Given the description of an element on the screen output the (x, y) to click on. 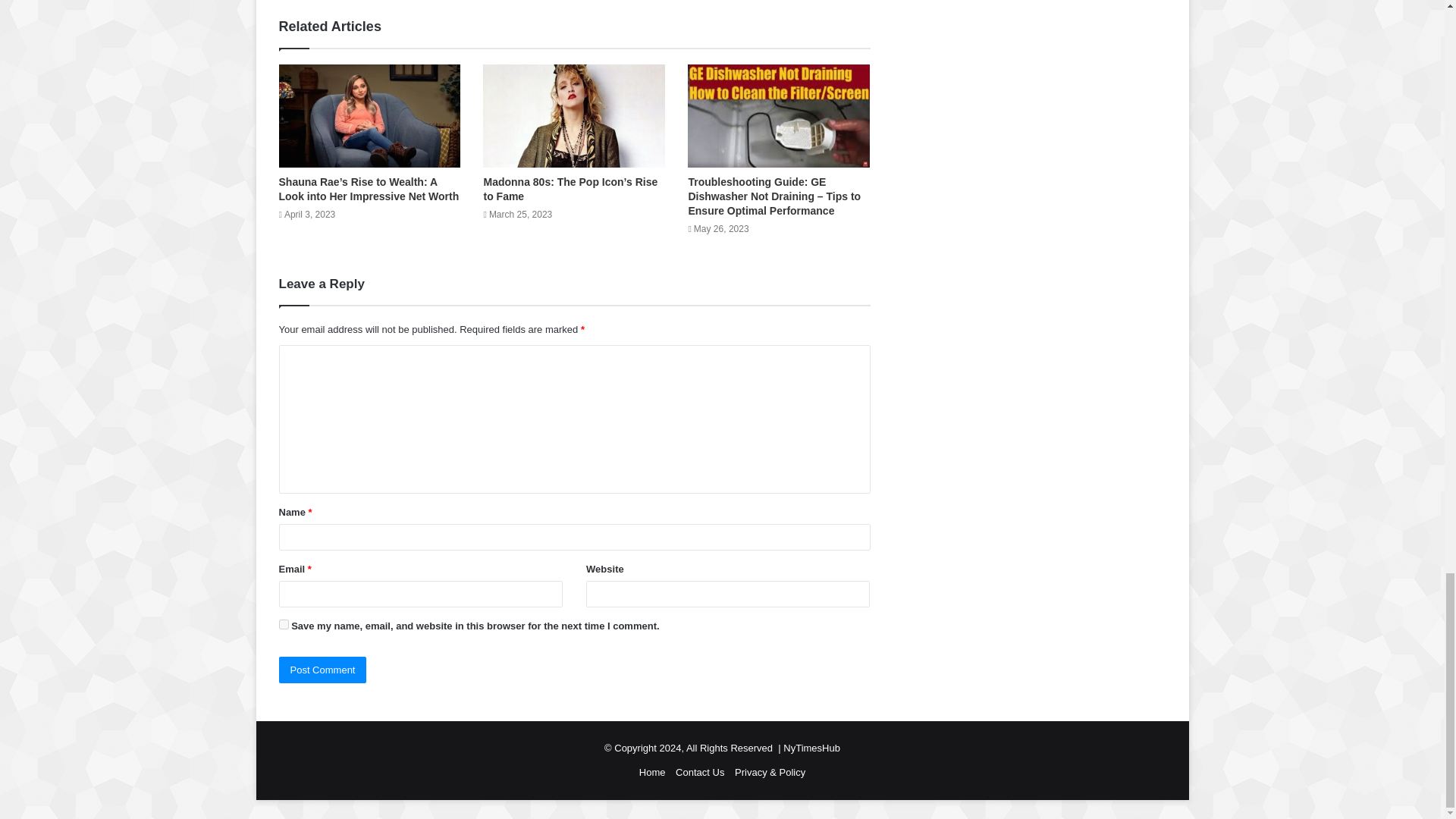
Post Comment (322, 669)
yes (283, 624)
